Given the description of an element on the screen output the (x, y) to click on. 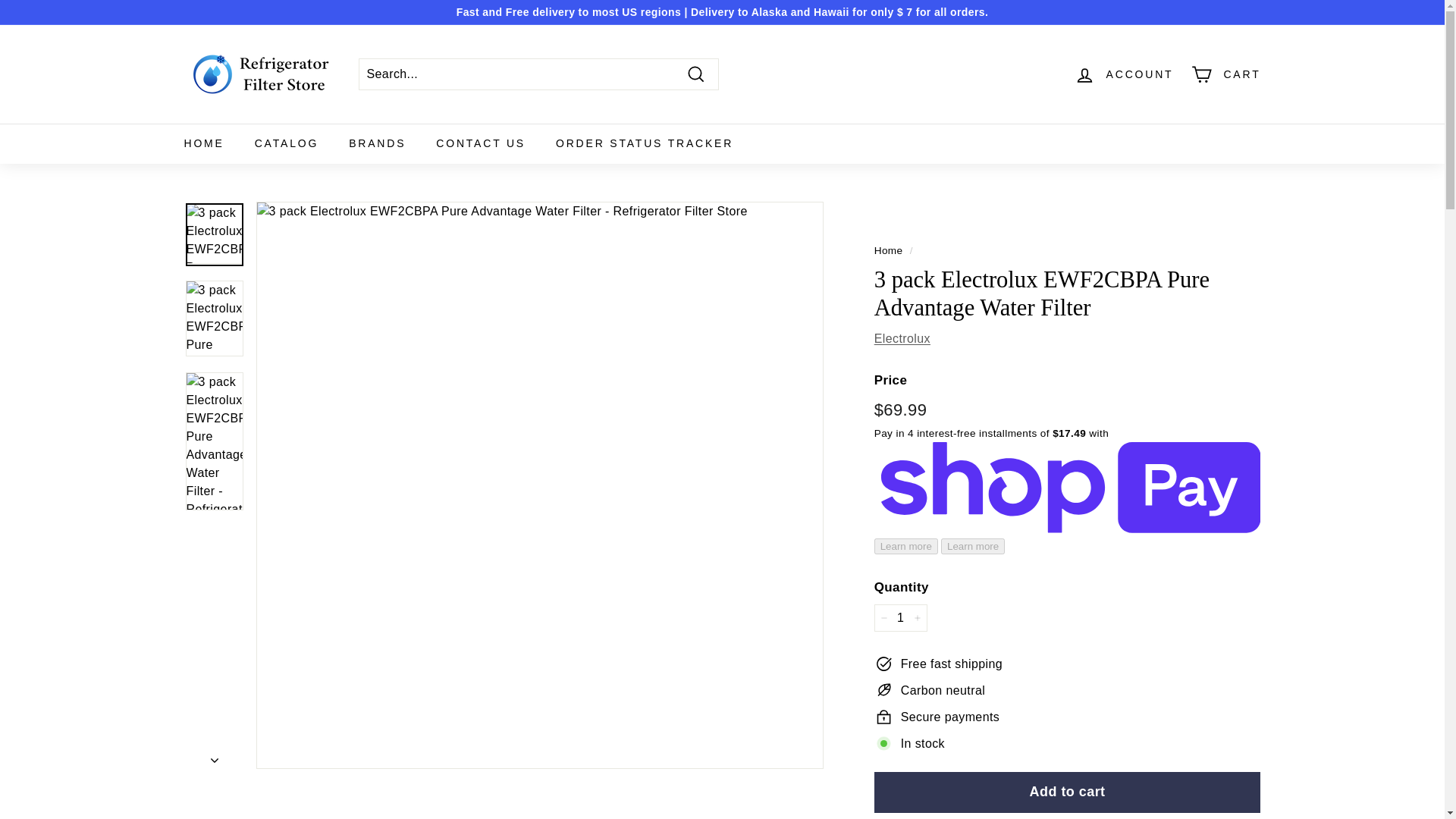
CATALOG (286, 143)
ORDER STATUS TRACKER (644, 143)
Back to the frontpage (888, 250)
1 (901, 617)
BRANDS (376, 143)
HOME (203, 143)
ACCOUNT (1123, 73)
CONTACT US (480, 143)
